Given the description of an element on the screen output the (x, y) to click on. 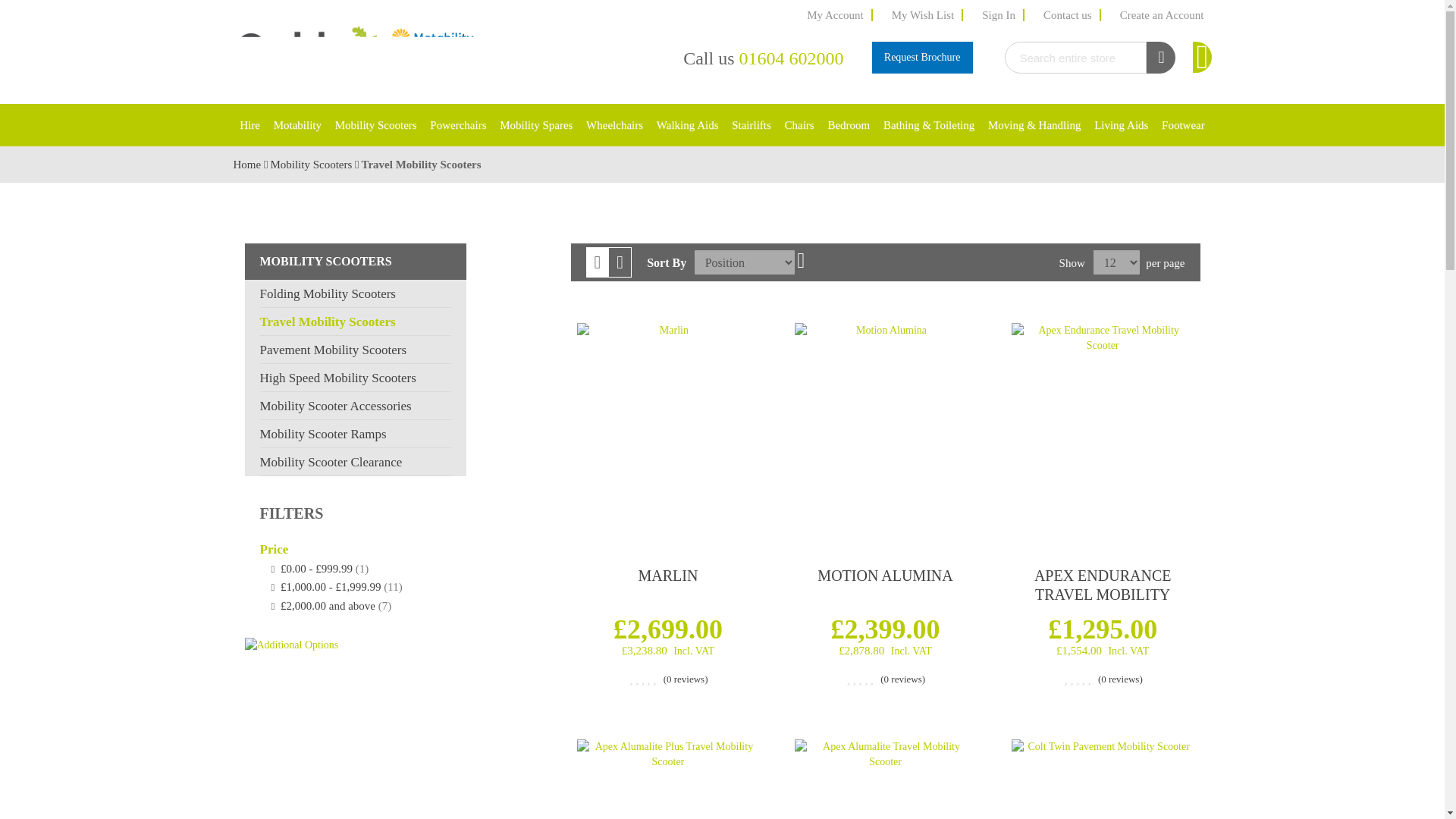
List (619, 262)
Mobility Spares (536, 125)
Go to Home Page (247, 164)
Search (1160, 57)
My Cart (1201, 56)
Request Brochure (922, 57)
Create an Account (1161, 15)
Contact us (1067, 15)
Hire (249, 125)
My Account (835, 15)
Grid (597, 262)
My Wish List (922, 15)
Search (1160, 57)
Sign In (999, 15)
Set Descending Direction (800, 260)
